Given the description of an element on the screen output the (x, y) to click on. 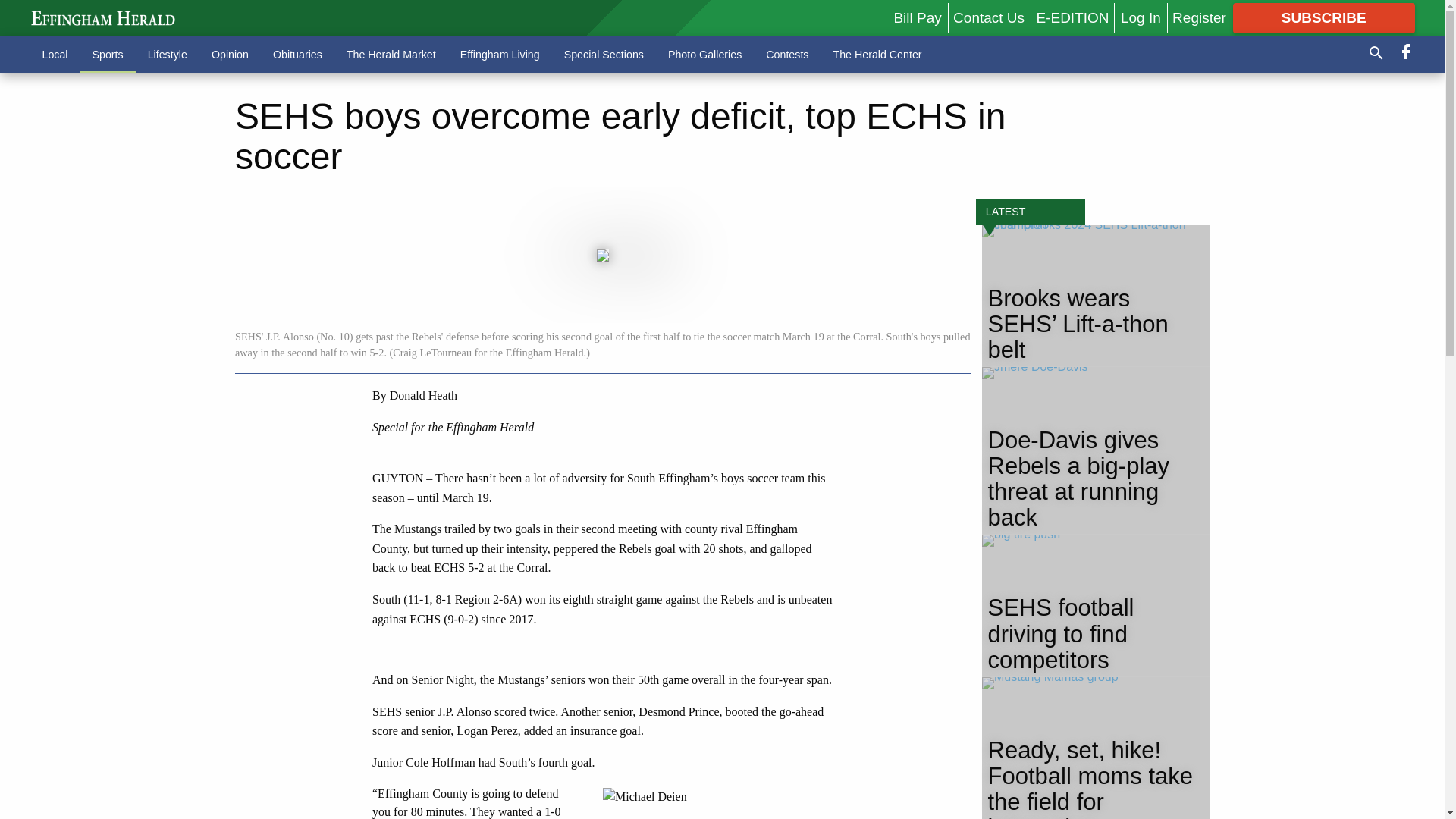
Sports (107, 54)
The Herald Center (877, 54)
Bill Pay (916, 17)
Special Sections (603, 54)
Register (1198, 17)
Contests (787, 54)
Obituaries (297, 54)
Log In (1140, 17)
The Herald Market (391, 54)
Lifestyle (167, 54)
E-EDITION (1071, 17)
Opinion (229, 54)
Effingham Living (499, 54)
SUBSCRIBE (1324, 18)
Photo Galleries (705, 54)
